Given the description of an element on the screen output the (x, y) to click on. 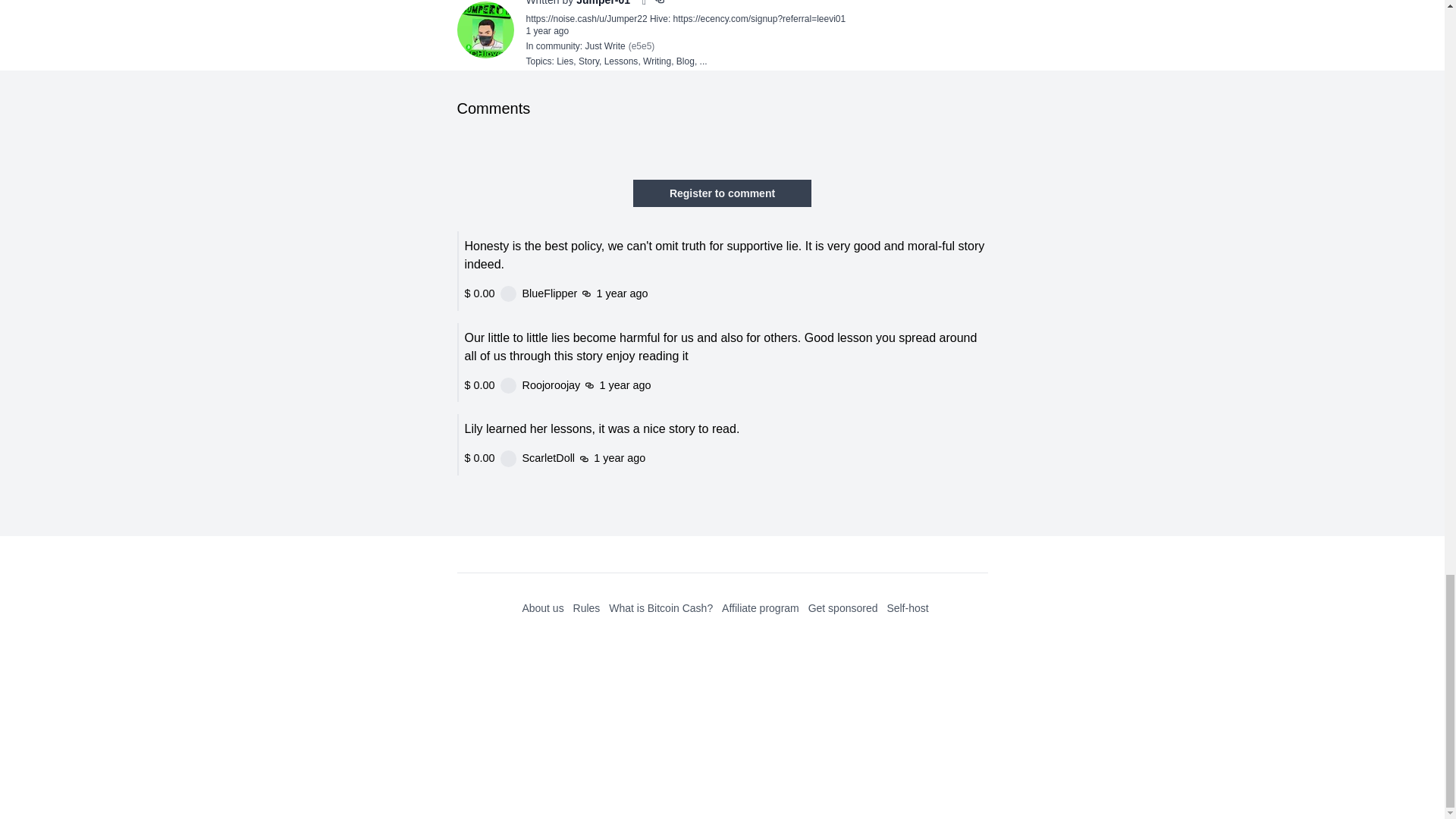
Register to comment (721, 193)
Roojoroojay (612, 648)
Lies (564, 61)
Writing (657, 61)
Link to this comment (654, 647)
Blog (685, 61)
2023-04-03 10:32:34 (688, 729)
Jumper-01 (603, 3)
BlueFlipper (610, 546)
Link to this comment (649, 729)
